Given the description of an element on the screen output the (x, y) to click on. 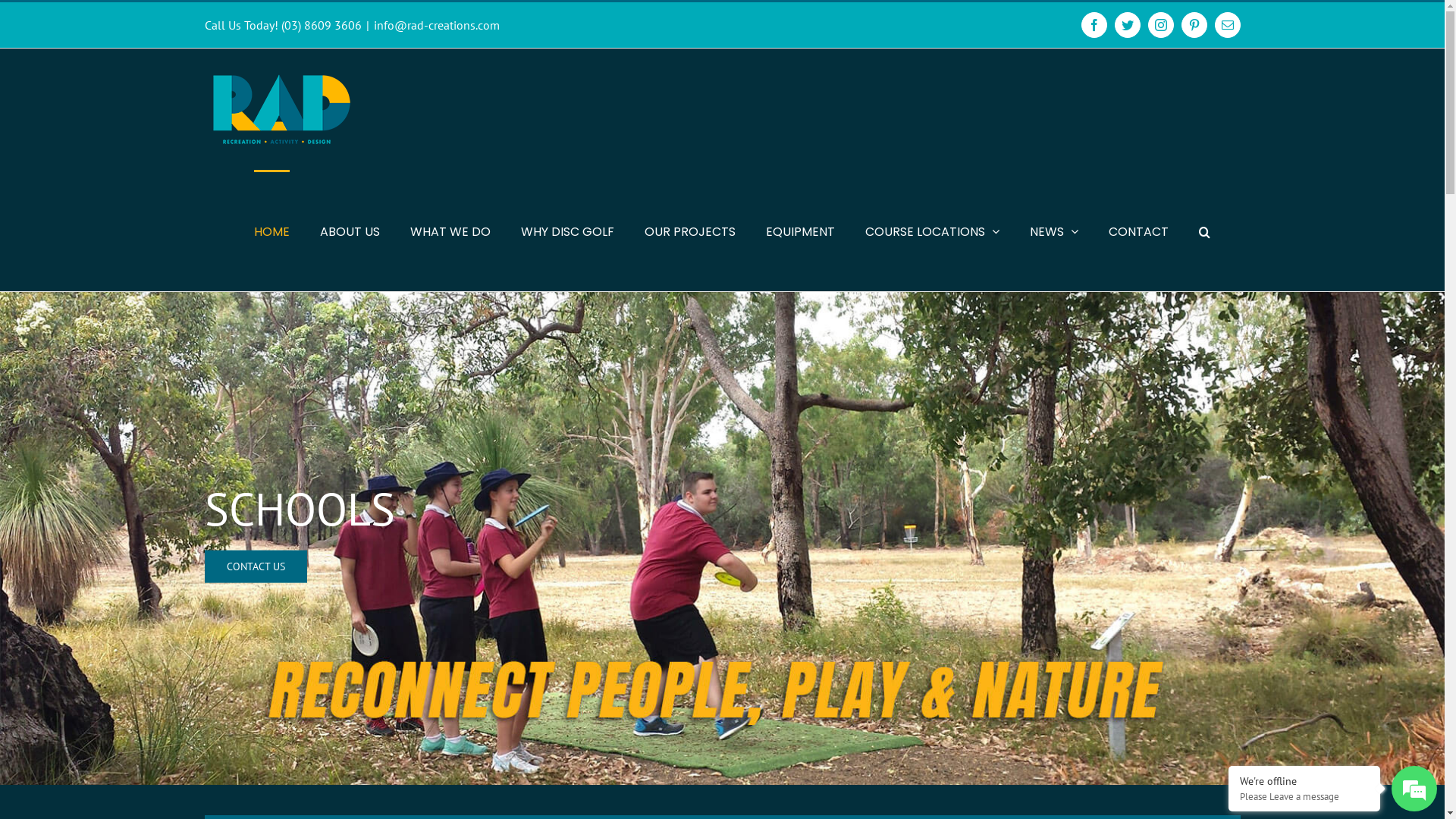
info@rad-creations.com Element type: text (435, 24)
Search Element type: hover (1203, 230)
(03) 8609 3606 Element type: text (320, 24)
CONTACT US Element type: text (255, 565)
EQUIPMENT Element type: text (799, 230)
Facebook Element type: text (1094, 24)
HOME Element type: text (270, 230)
Instagram Element type: text (1160, 24)
COURSE LOCATIONS Element type: text (931, 230)
CONTACT Element type: text (1138, 230)
WHY DISC GOLF Element type: text (566, 230)
NEWS Element type: text (1053, 230)
WHAT WE DO Element type: text (449, 230)
Pinterest Element type: text (1194, 24)
Twitter Element type: text (1127, 24)
ABOUT US Element type: text (349, 230)
Email Element type: text (1227, 24)
OUR PROJECTS Element type: text (689, 230)
